Given the description of an element on the screen output the (x, y) to click on. 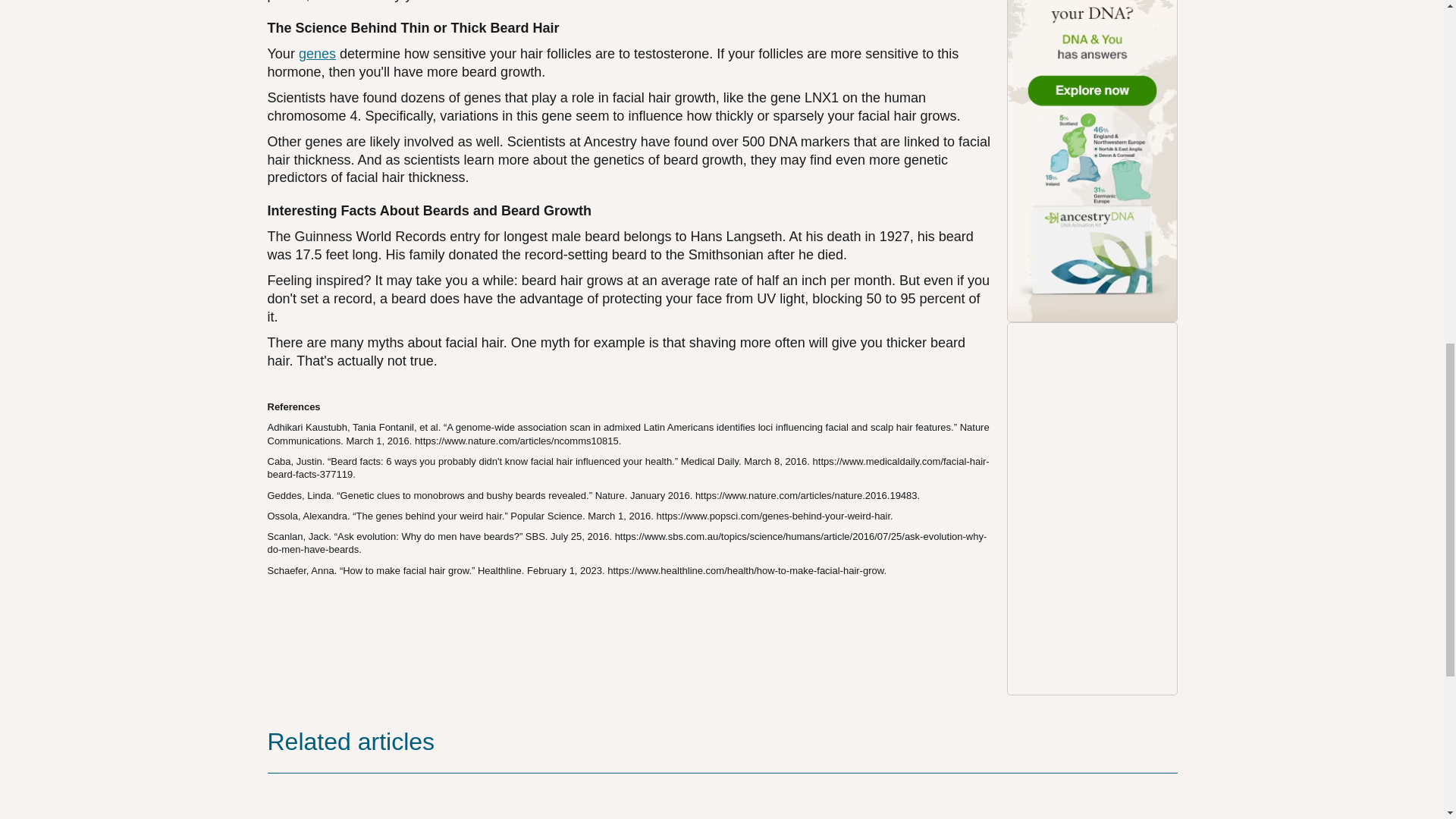
genes (317, 53)
